Given the description of an element on the screen output the (x, y) to click on. 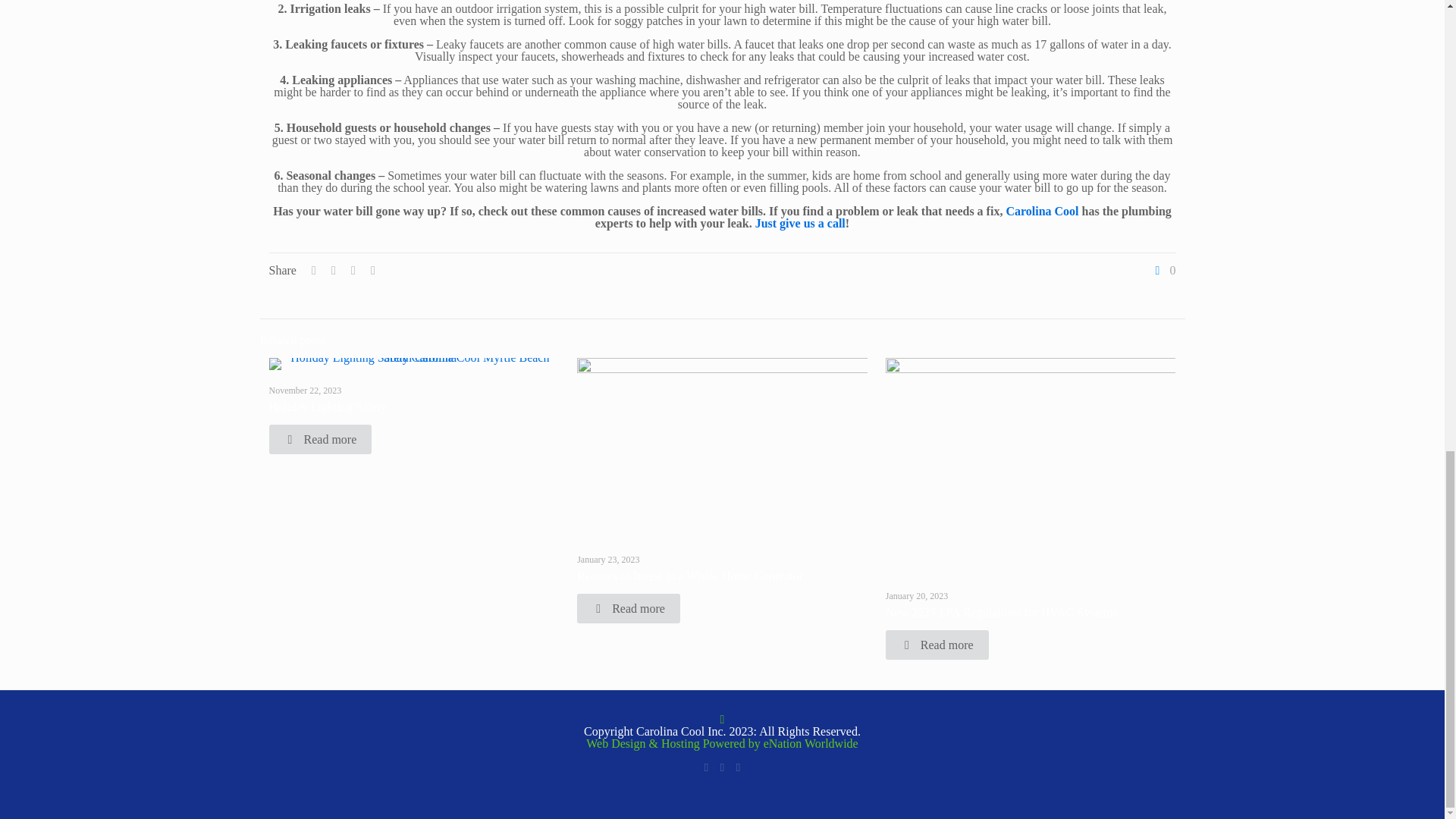
myrtle beach web design (674, 743)
Facebook (705, 767)
myrtle beach web designers enation worldwide (810, 743)
LinkedIn (722, 767)
